Given the description of an element on the screen output the (x, y) to click on. 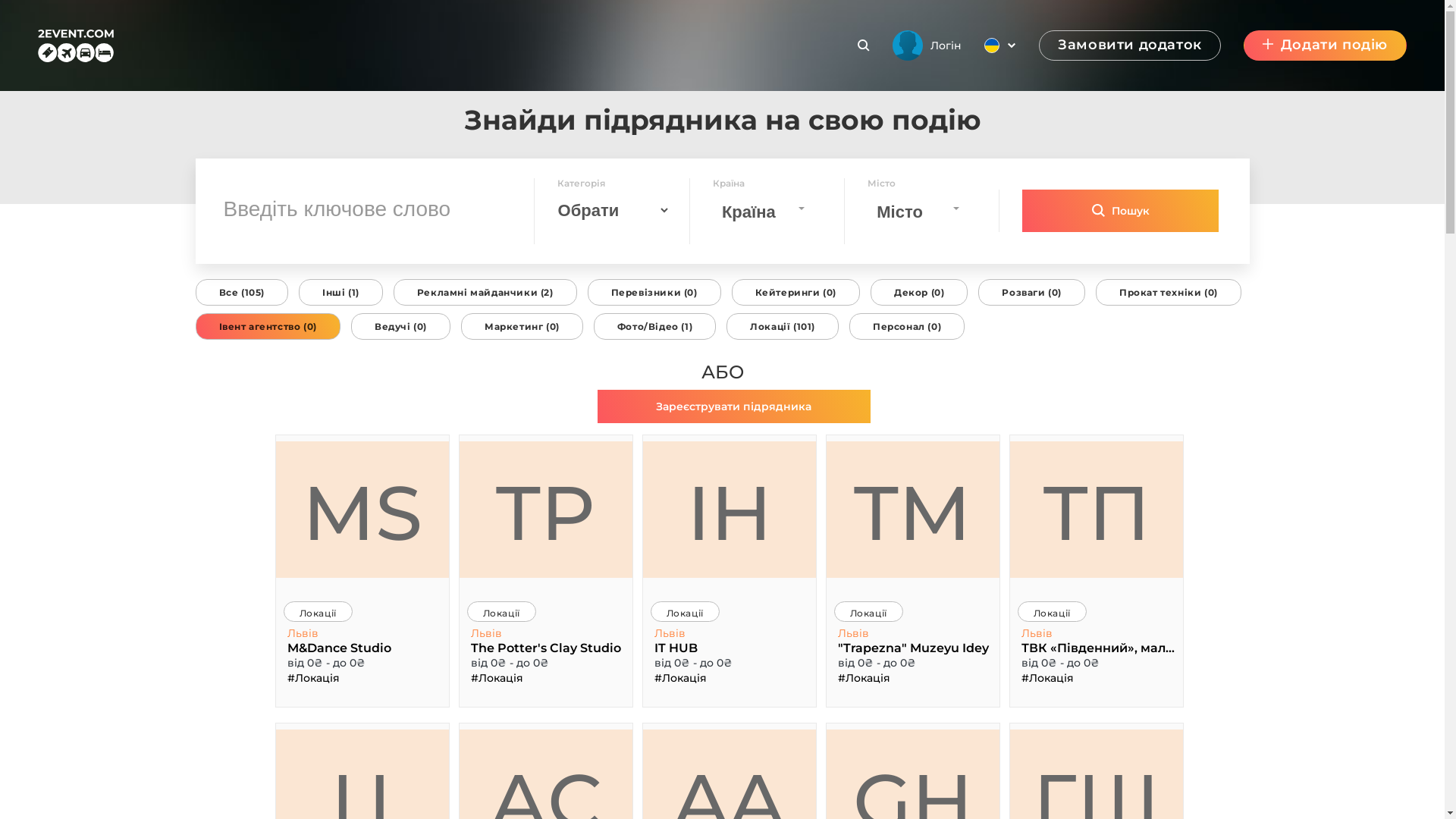
TM Element type: text (912, 509)
"Trapezna" Muzeyu Idey Element type: text (912, 647)
The Potter's Clay Studio Element type: text (545, 647)
M&Dance Studio Element type: text (362, 647)
MS Element type: text (362, 509)
IT HUB Element type: text (729, 647)
IH Element type: text (729, 509)
TP Element type: text (545, 509)
